Given the description of an element on the screen output the (x, y) to click on. 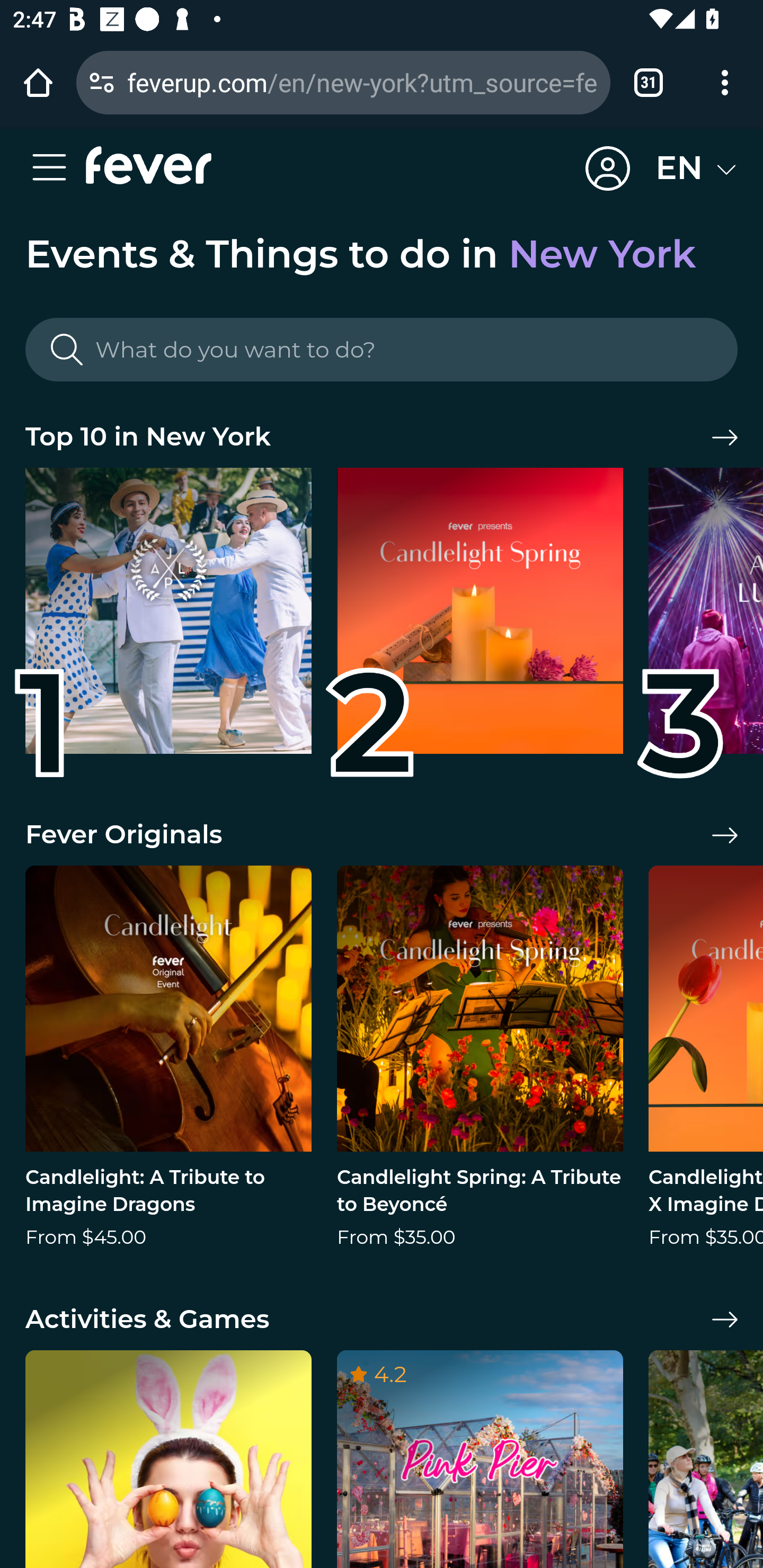
Open the home page (38, 82)
Connection is secure (101, 82)
Switch or close tabs (648, 82)
Customize and control Google Chrome (724, 82)
User account (608, 169)
Fever (148, 165)
Toggle navigation (55, 168)
EN (695, 168)
What do you want to do? (381, 349)
Top 10 in New York (381, 438)
The 19th Annual Jazz Age Lawn Party - Waitlist (168, 617)
Candlelight Spring: A Tribute to Adele (480, 617)
Fever Originals Fever Originals Fever Originals (381, 834)
